Given the description of an element on the screen output the (x, y) to click on. 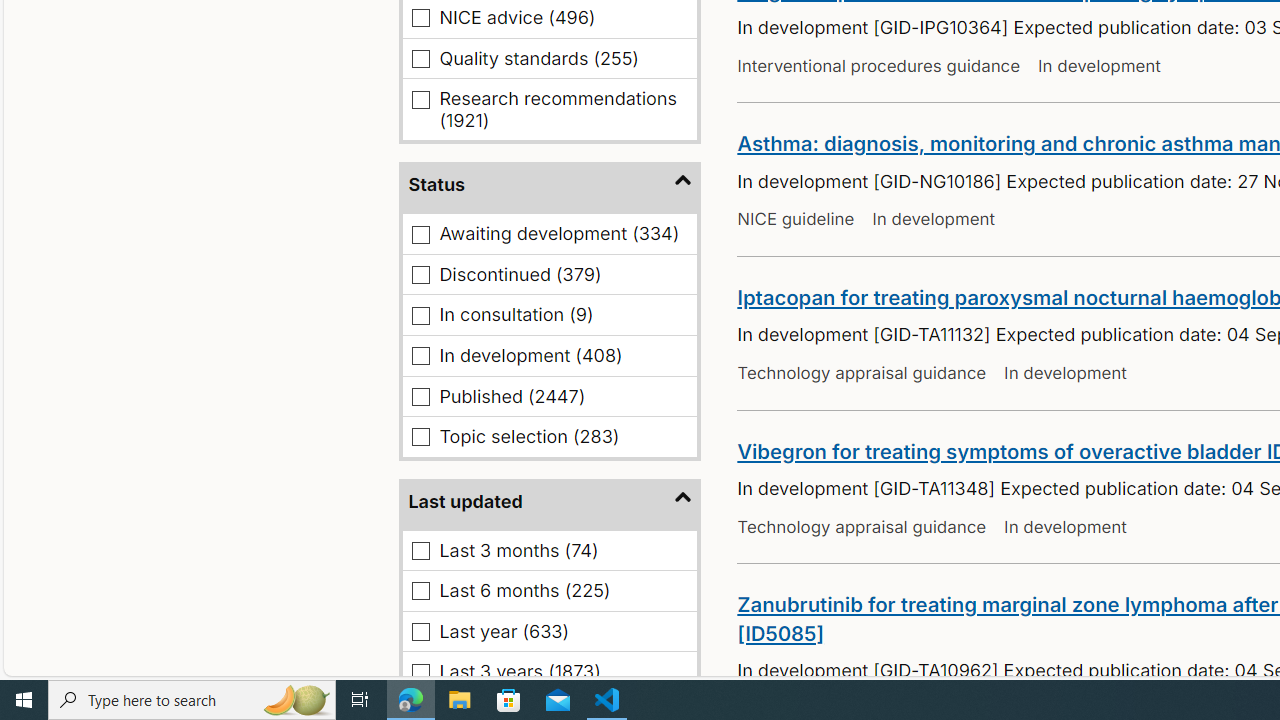
NICE advice (496) (421, 18)
In development (408) (421, 356)
Research recommendations (1921) (421, 99)
Awaiting development (334) (421, 234)
Last 3 years (1873) (421, 672)
In consultation (9) (421, 315)
Last 6 months (225) (421, 591)
Quality standards (255) (421, 57)
Status (550, 186)
Published (2447) (421, 396)
Last updated (550, 502)
Discontinued (379) (421, 275)
Topic selection (283) (421, 437)
Last year (633) (421, 632)
Last 3 months (74) (421, 550)
